Given the description of an element on the screen output the (x, y) to click on. 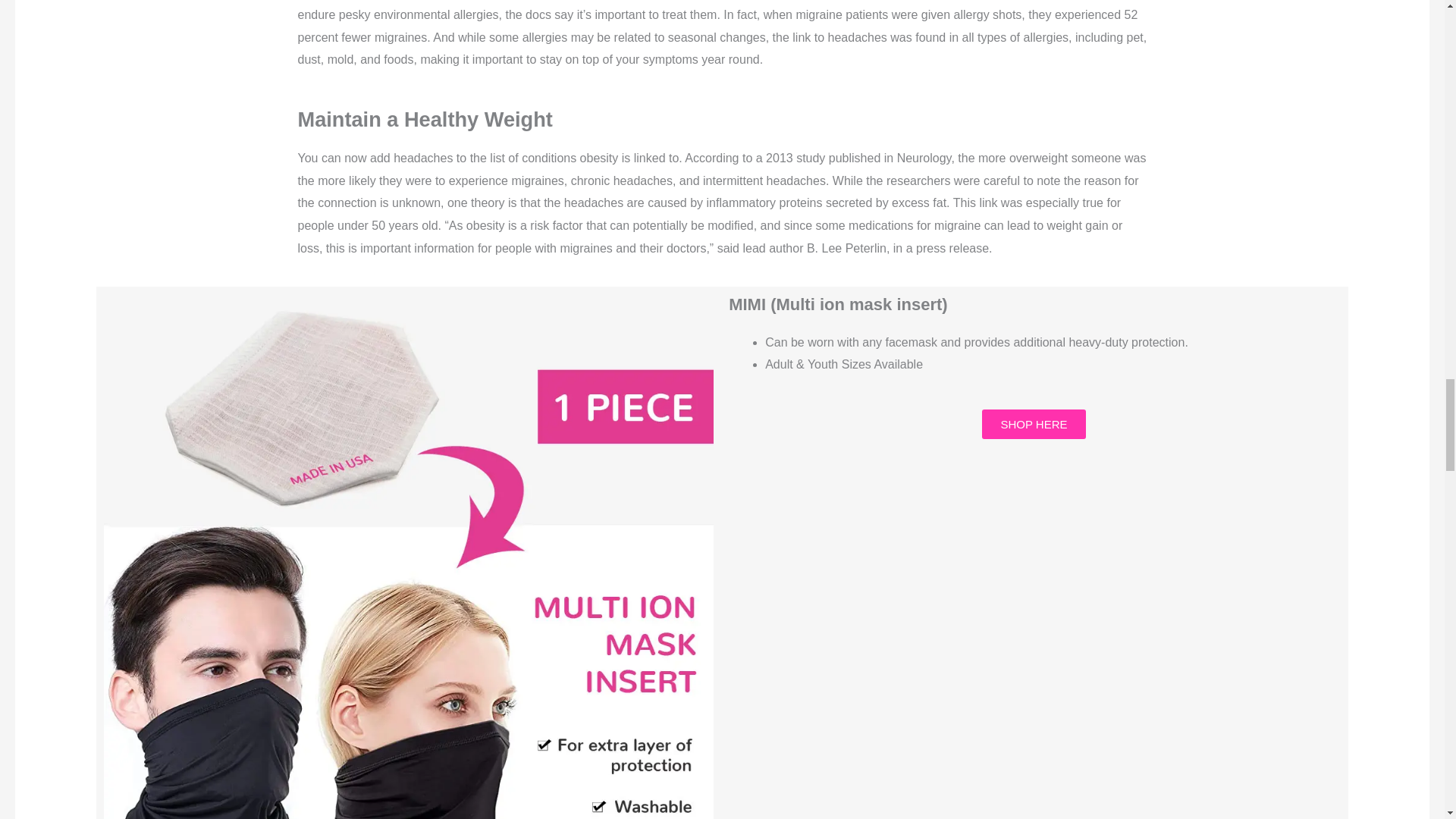
SHOP HERE (1032, 423)
